Given the description of an element on the screen output the (x, y) to click on. 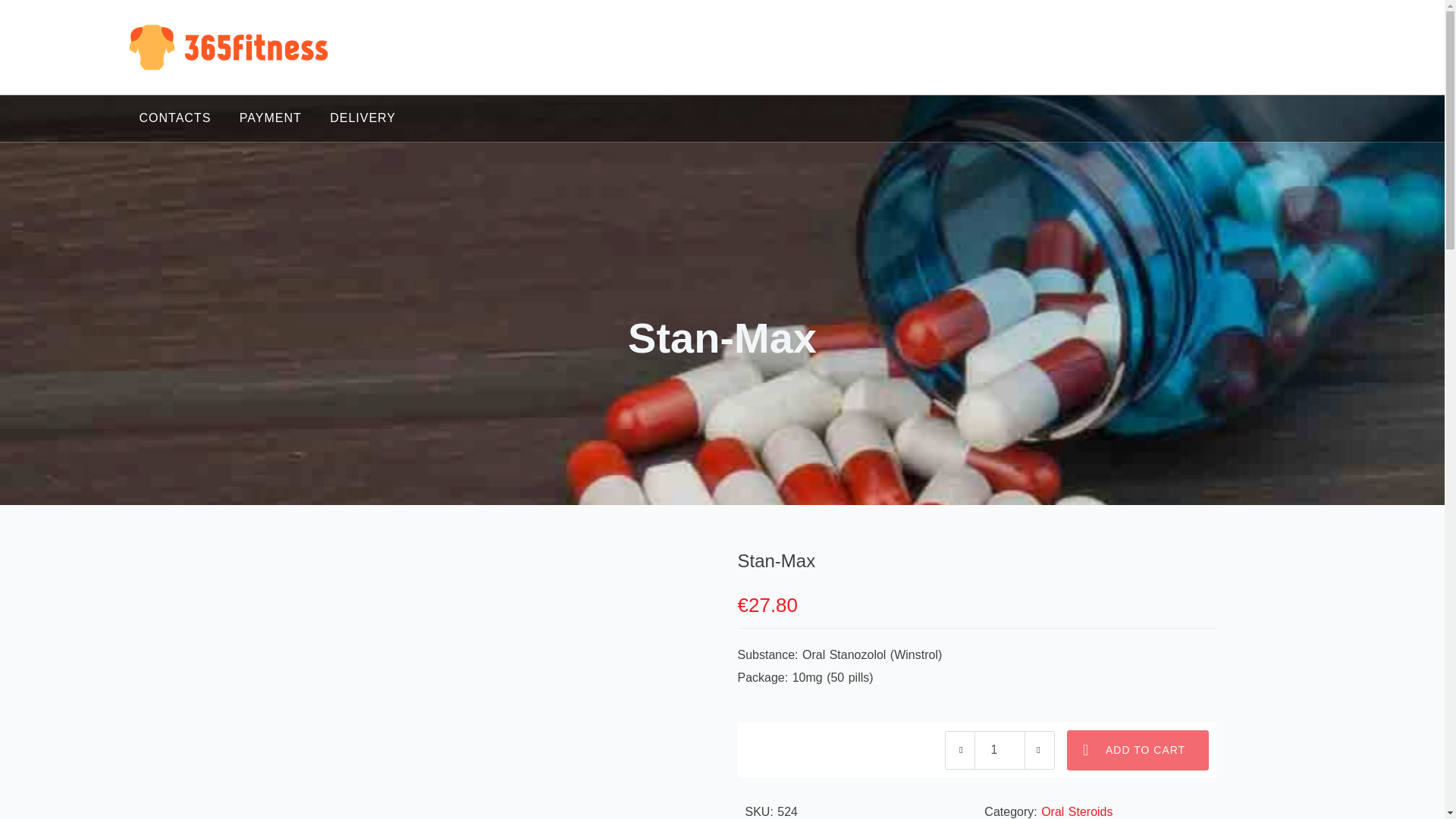
Qty (1000, 750)
ADD TO CART (1137, 750)
DELIVERY (362, 118)
Oral Steroids (1076, 811)
CONTACTS (176, 118)
1 (1000, 750)
PAYMENT (270, 118)
